Given the description of an element on the screen output the (x, y) to click on. 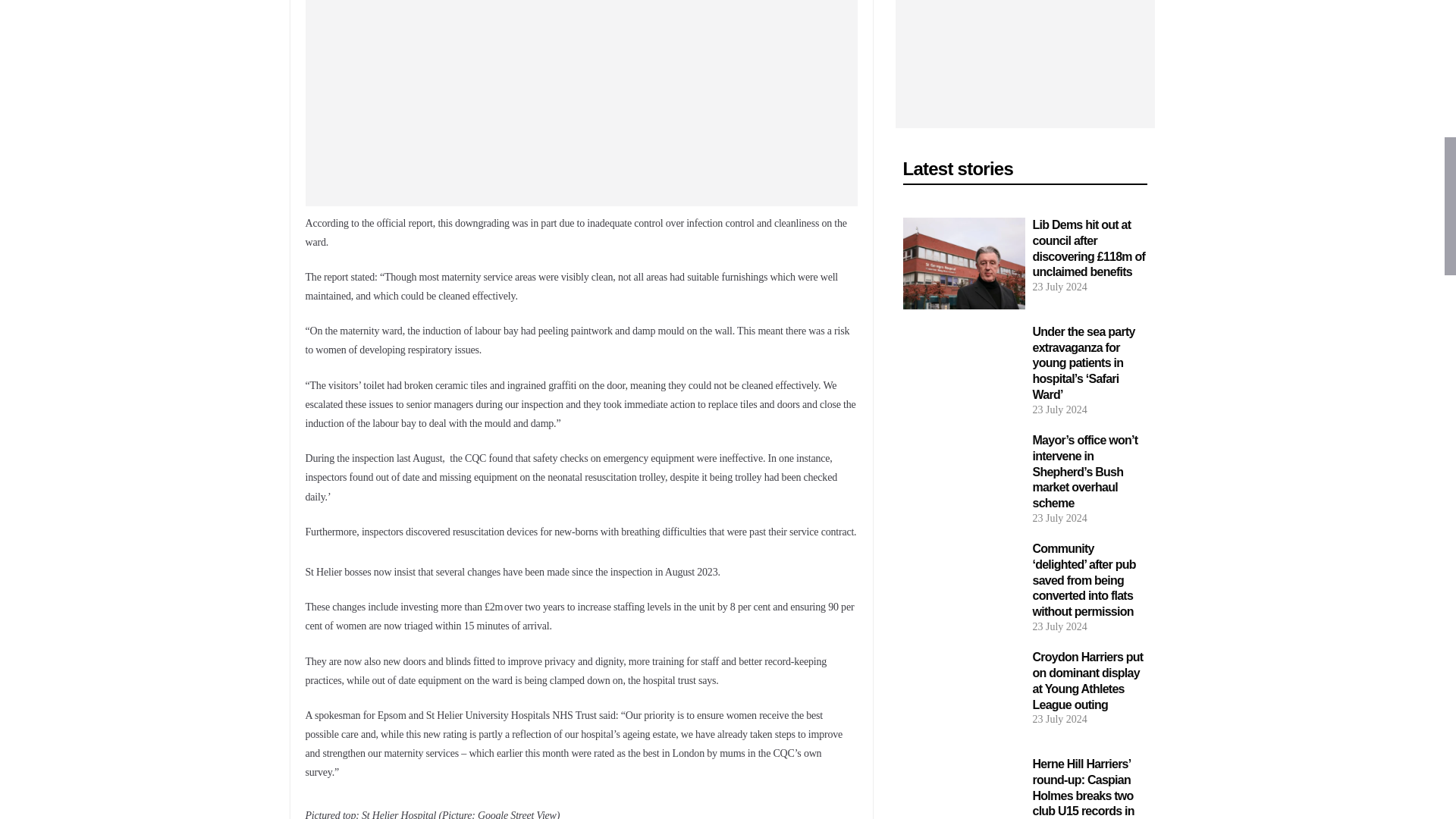
Advertisement (581, 103)
